Given the description of an element on the screen output the (x, y) to click on. 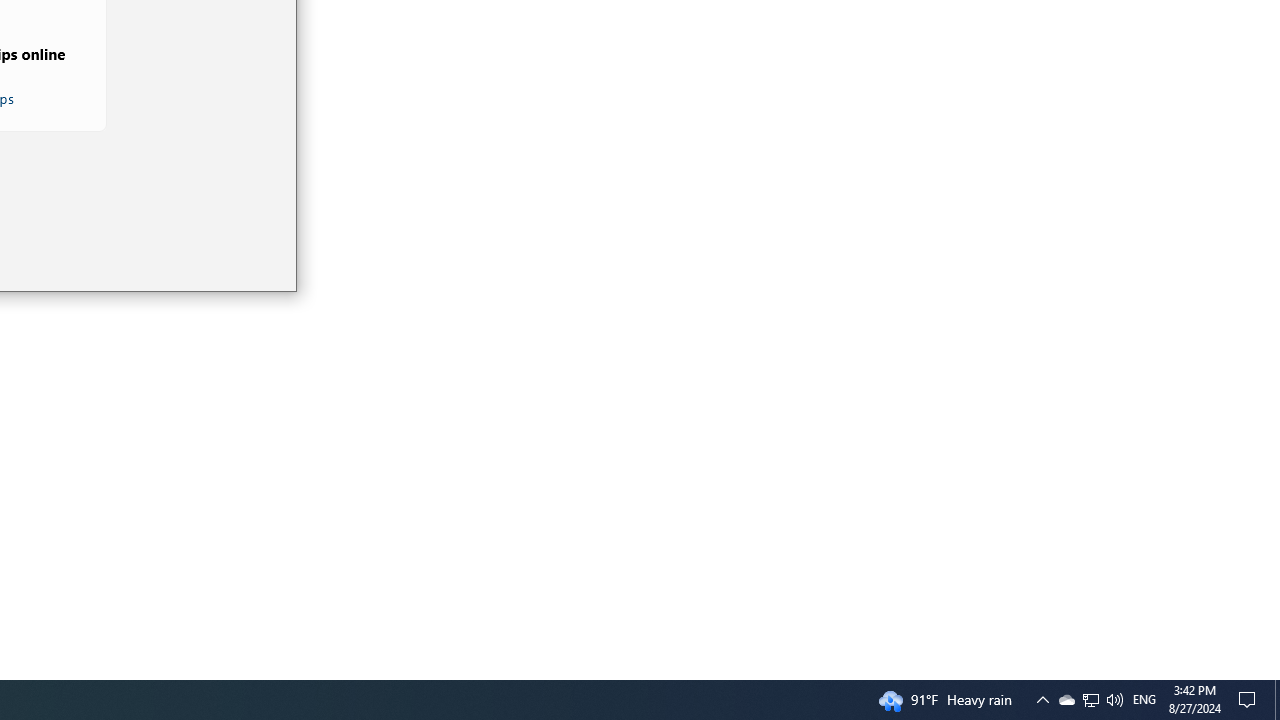
Tray Input Indicator - English (United States) (1066, 699)
Notification Chevron (1144, 699)
User Promoted Notification Area (1042, 699)
Q2790: 100% (1090, 699)
Show desktop (1091, 699)
Action Center, No new notifications (1114, 699)
